Given the description of an element on the screen output the (x, y) to click on. 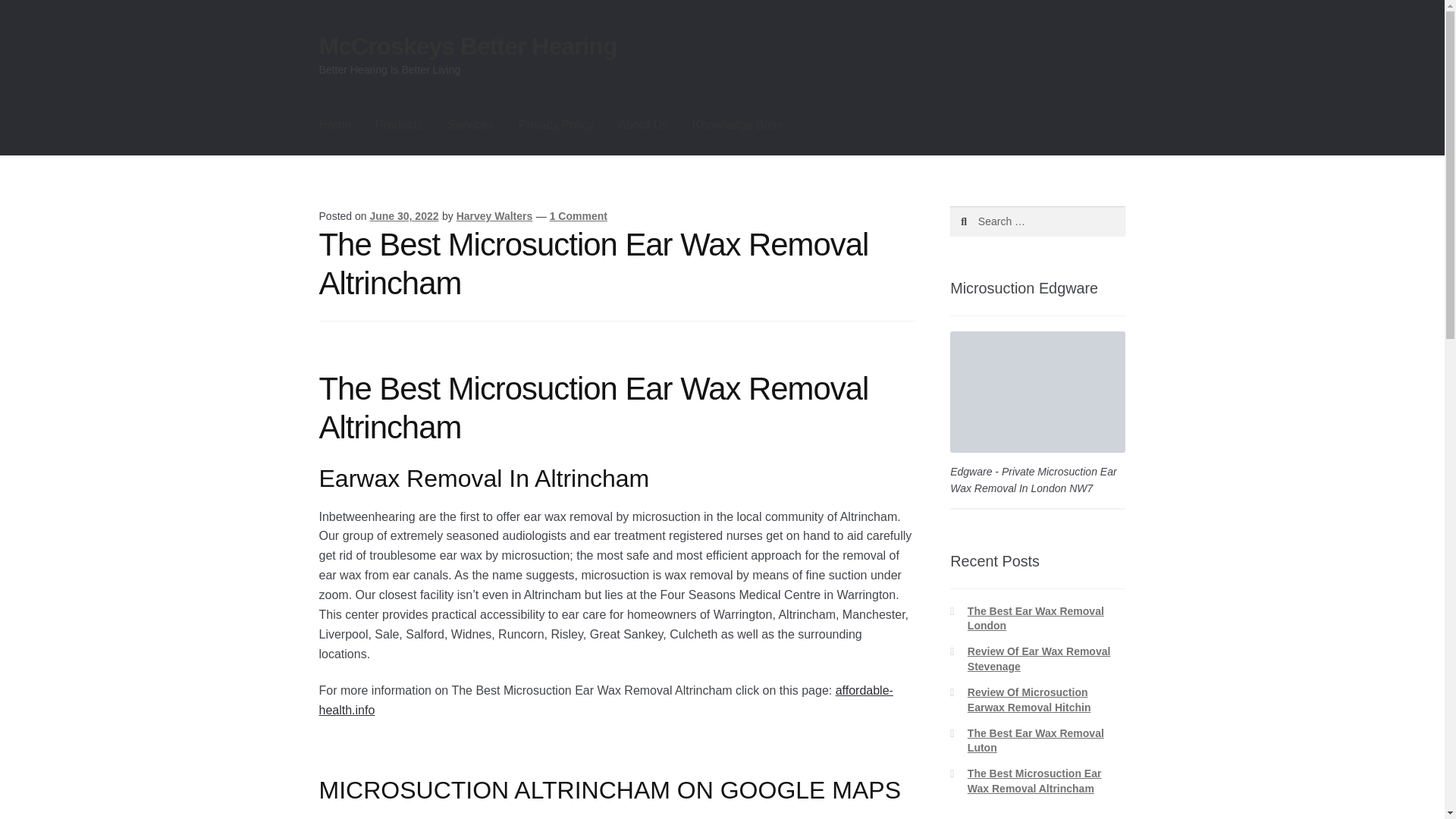
McCroskeys Better Hearing (467, 45)
Products (398, 124)
Home (335, 124)
1 Comment (578, 215)
About Us (642, 124)
The Best Ear Wax Removal London (1035, 618)
Harvey Walters (494, 215)
Knowledge Base (736, 124)
June 30, 2022 (403, 215)
Review Of Ear Wax Removal Stevenage (1039, 658)
affordable-health.info (605, 699)
